Given the description of an element on the screen output the (x, y) to click on. 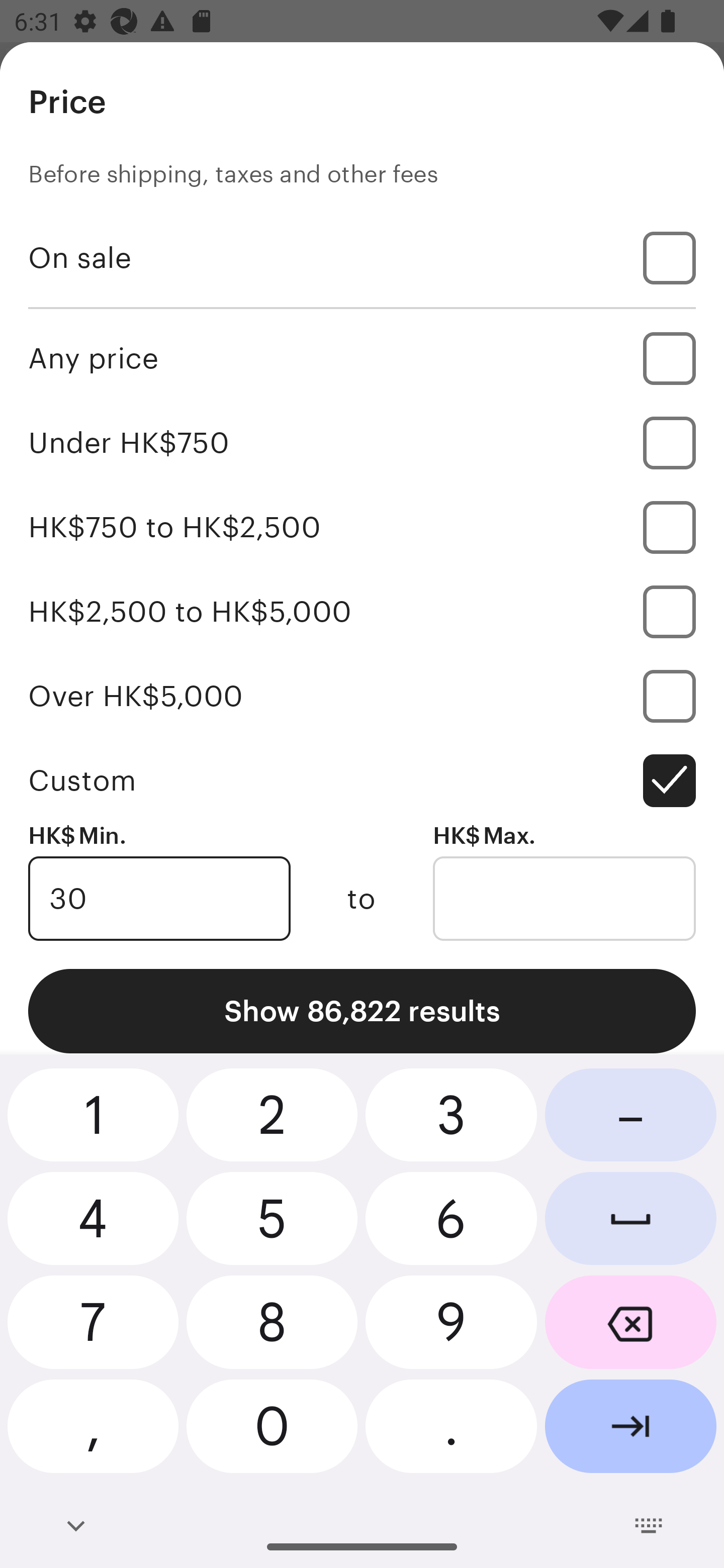
On sale (362, 257)
Any price (362, 357)
Under HK$750 (362, 441)
HK$750 to HK$2,500 (362, 526)
HK$2,500 to HK$5,000 (362, 611)
Over HK$5,000 (362, 695)
Custom (362, 780)
30 (159, 898)
Show 86,822 results (361, 1011)
